Given the description of an element on the screen output the (x, y) to click on. 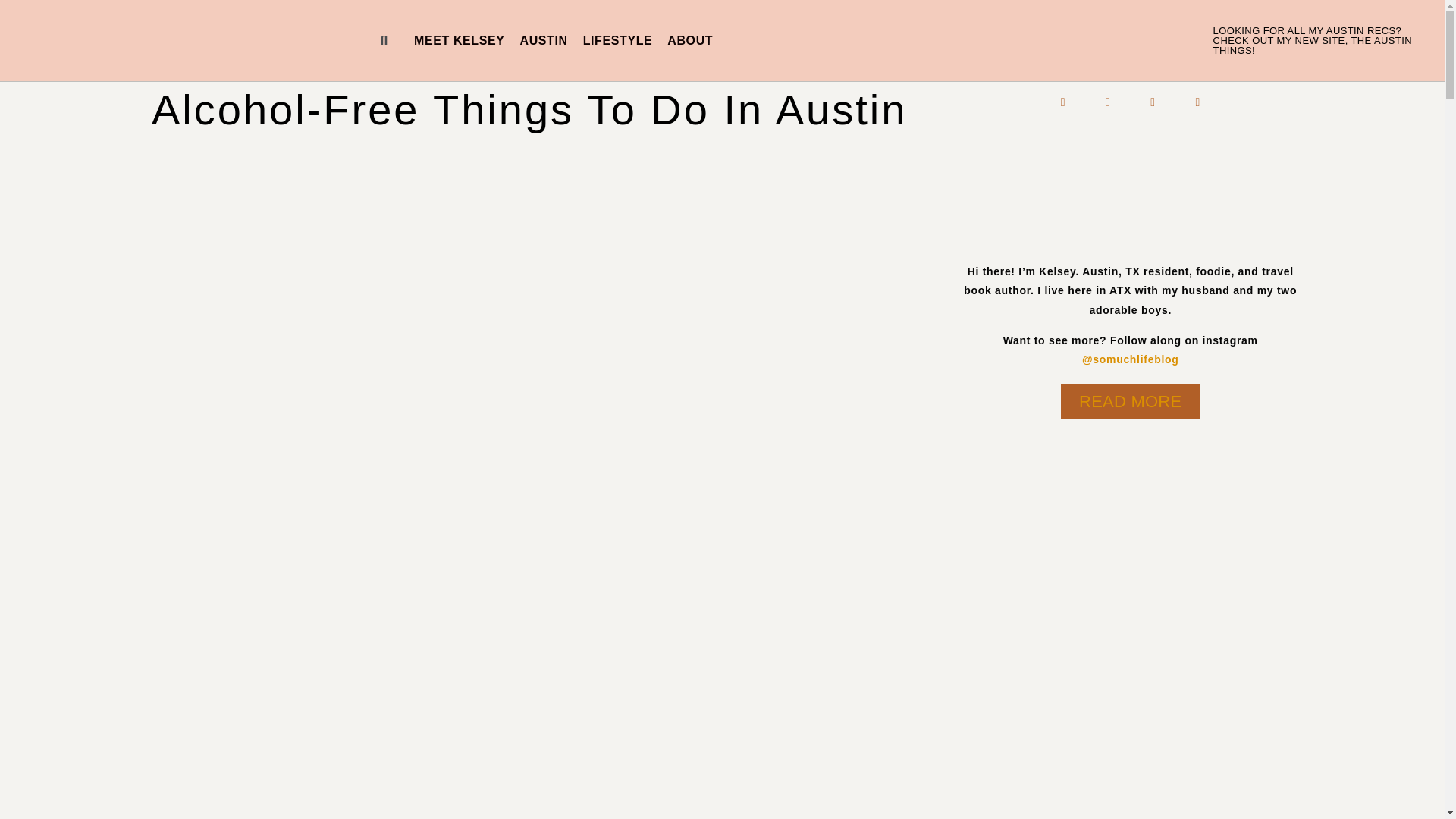
LIFESTYLE (618, 40)
ABOUT (689, 40)
AUSTIN (543, 40)
MEET KELSEY (459, 40)
